Given the description of an element on the screen output the (x, y) to click on. 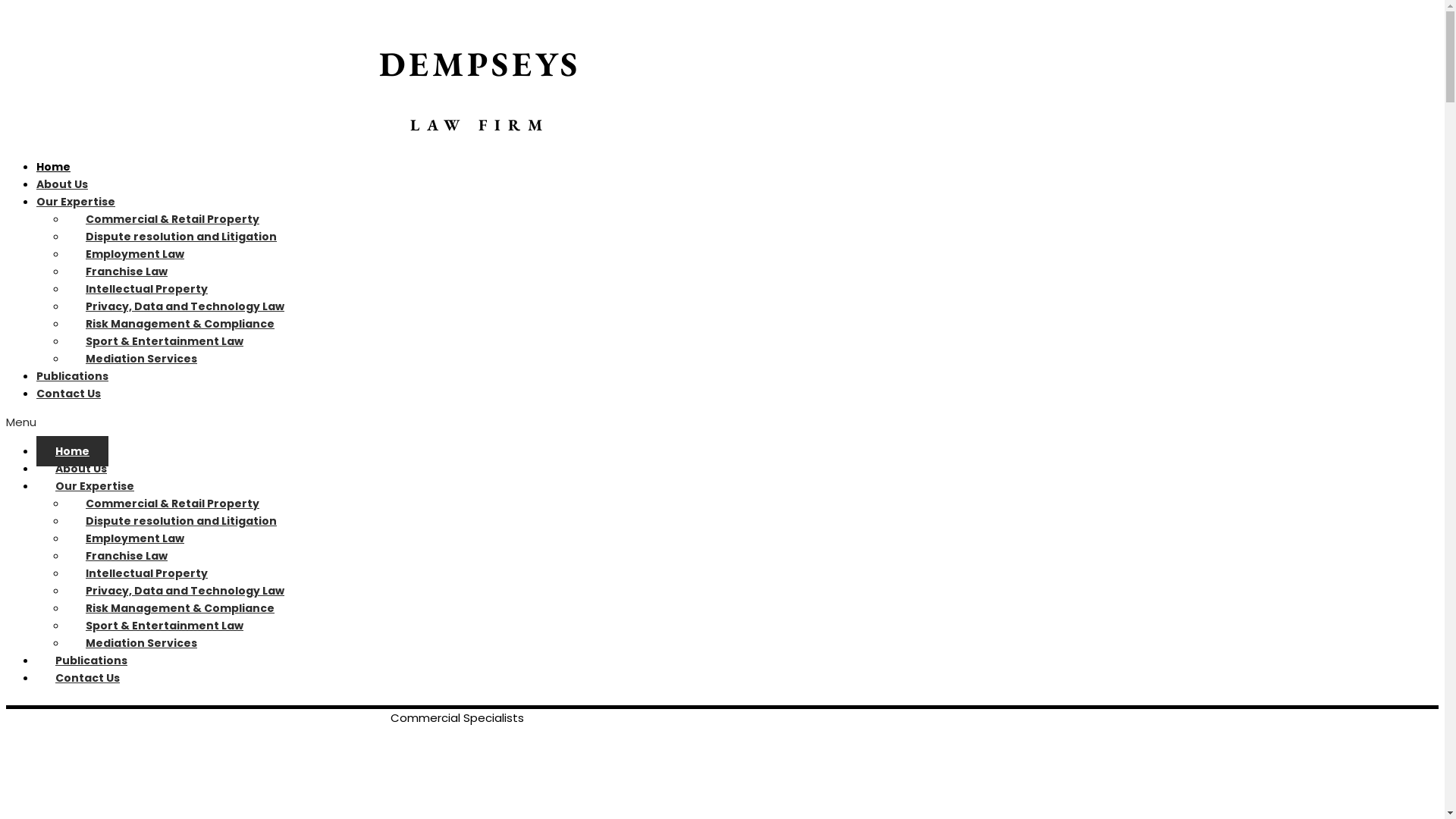
Franchise Law Element type: text (126, 555)
Our Expertise Element type: text (75, 201)
About Us Element type: text (80, 468)
Home Element type: text (72, 451)
Commercial & Retail Property Element type: text (172, 218)
Privacy, Data and Technology Law Element type: text (184, 306)
Our Expertise Element type: text (94, 485)
Publications Element type: text (72, 375)
Sport & Entertainment Law Element type: text (164, 625)
Mediation Services Element type: text (141, 358)
Dispute resolution and Litigation Element type: text (180, 236)
Intellectual Property Element type: text (146, 288)
Privacy, Data and Technology Law Element type: text (184, 590)
Risk Management & Compliance Element type: text (179, 323)
Dispute resolution and Litigation Element type: text (180, 520)
Franchise Law Element type: text (126, 271)
Publications Element type: text (91, 660)
Commercial & Retail Property Element type: text (172, 503)
Intellectual Property Element type: text (146, 573)
Contact Us Element type: text (87, 677)
Contact Us Element type: text (68, 393)
About Us Element type: text (61, 183)
Employment Law Element type: text (134, 538)
Employment Law Element type: text (134, 253)
Risk Management & Compliance Element type: text (179, 608)
Mediation Services Element type: text (141, 642)
Home Element type: text (53, 166)
Sport & Entertainment Law Element type: text (164, 341)
